Given the description of an element on the screen output the (x, y) to click on. 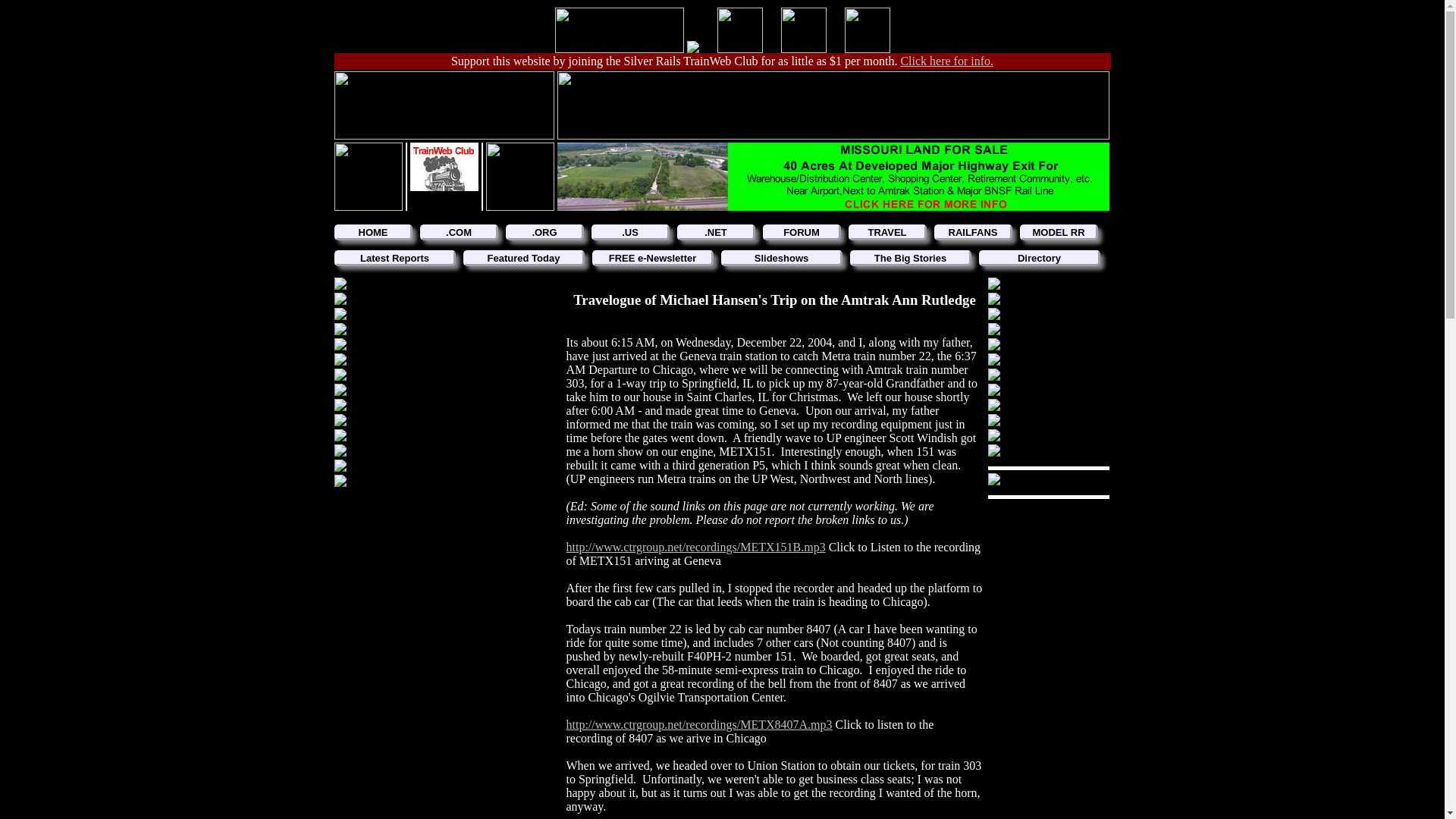
FREE e-Newsletter (652, 258)
.ORG (544, 232)
HOME (372, 232)
.NET (715, 232)
Latest Reports (393, 258)
.US (630, 232)
.COM (458, 232)
Featured Today (523, 258)
